Given the description of an element on the screen output the (x, y) to click on. 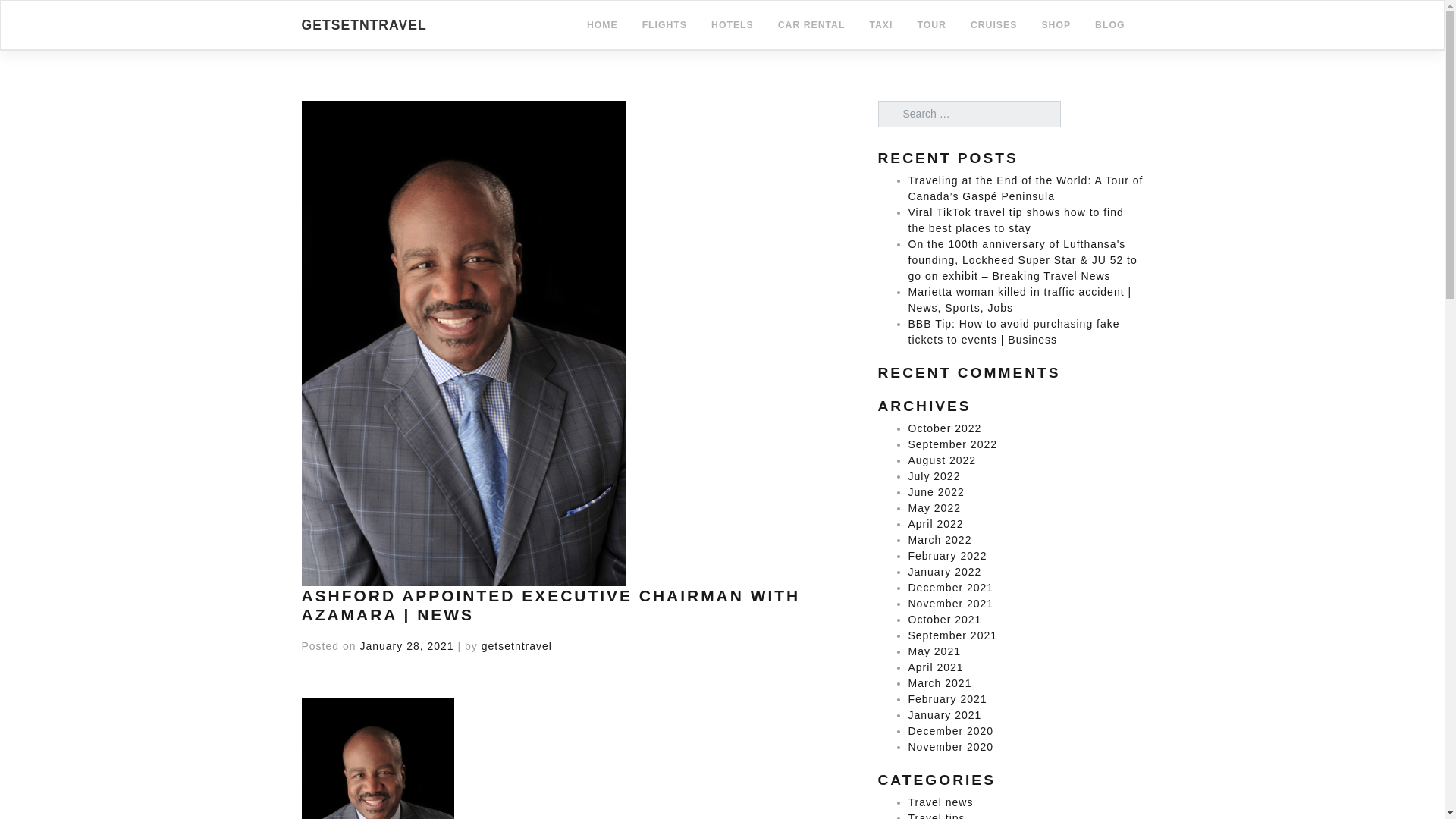
January 28, 2021 (405, 645)
Flights (664, 24)
Search for: (969, 113)
Hotels (732, 24)
HOTELS (732, 24)
Car Rental (811, 24)
HOME (602, 24)
Tour (931, 24)
CRUISES (993, 24)
GETSETNTRAVEL (363, 24)
Cruises (993, 24)
Blog (1110, 24)
shop (1056, 24)
Taxi (880, 24)
SHOP (1056, 24)
